Given the description of an element on the screen output the (x, y) to click on. 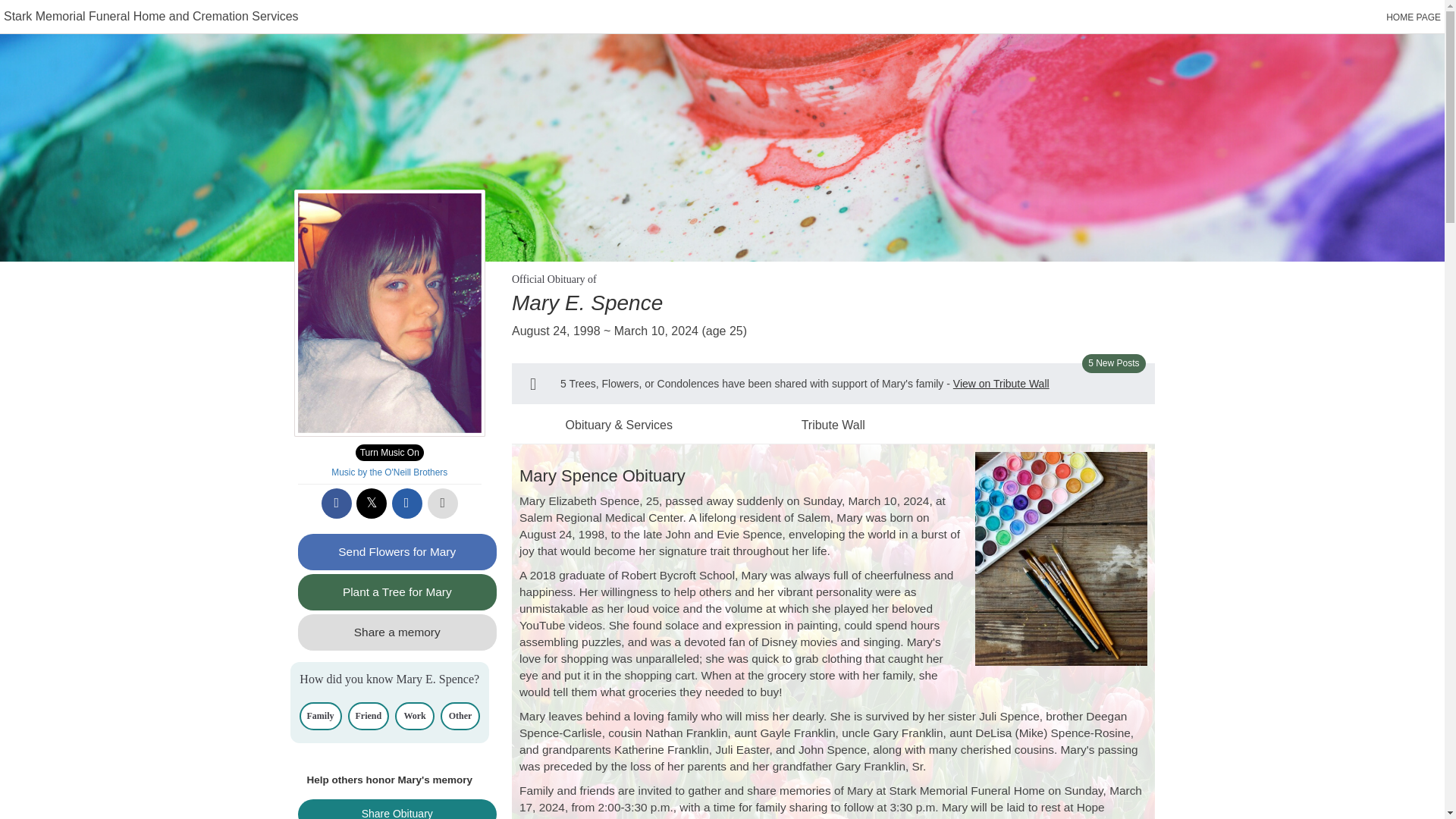
Plant a Tree for Mary (396, 592)
Share Obituary (396, 809)
View on Tribute Wall (1001, 383)
Send Flowers for Mary (396, 551)
Stark Memorial Funeral Home and Cremation Services (151, 15)
Share to Facebook (336, 503)
Share on X (371, 503)
Printable copy (443, 503)
Share via email (406, 503)
Turn Music On (389, 452)
Music by the O'Neill Brothers (388, 471)
HOME PAGE (1413, 17)
Share a memory (396, 632)
